Given the description of an element on the screen output the (x, y) to click on. 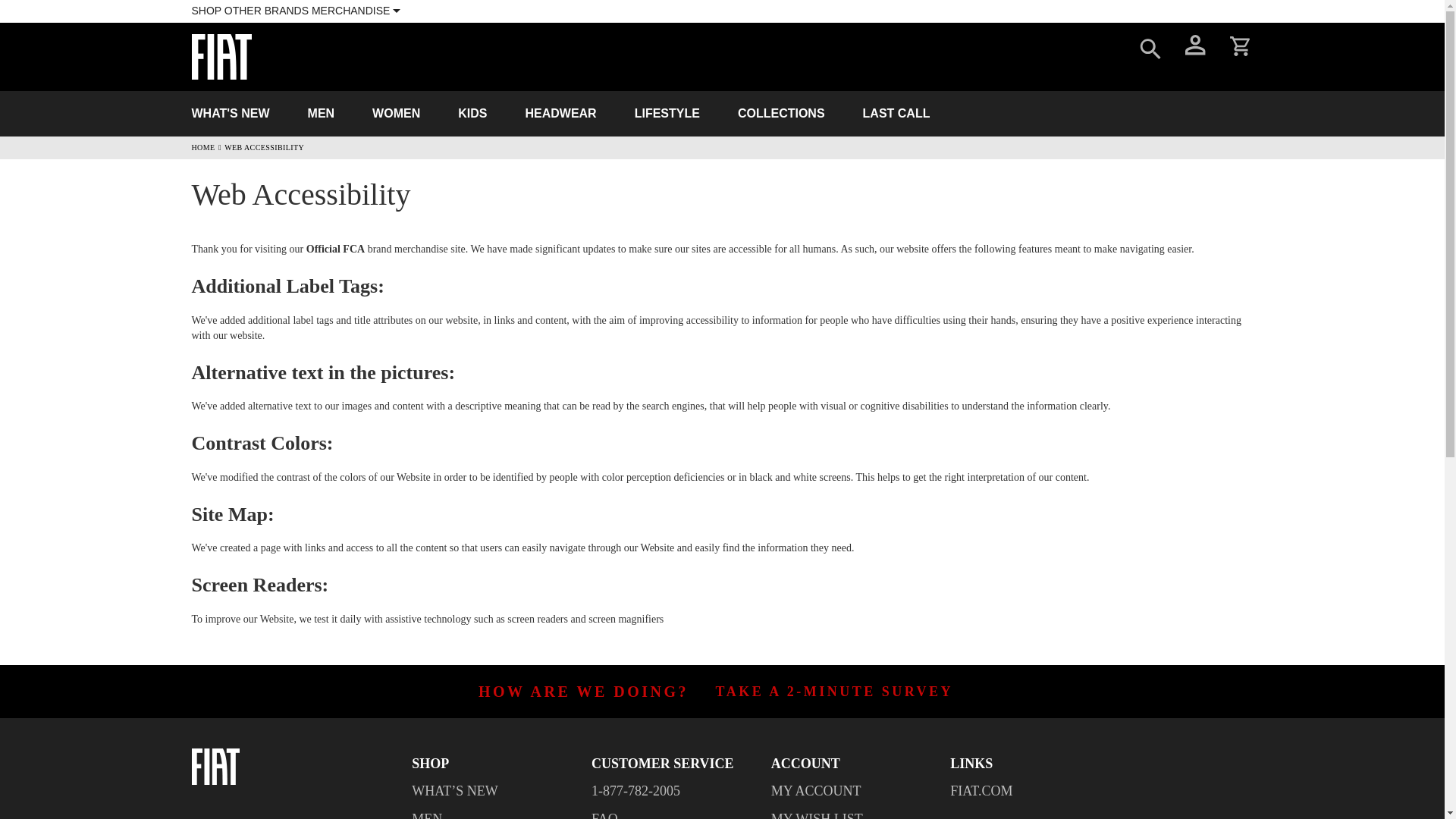
WOMEN (395, 113)
KIDS (472, 113)
Sign In (1194, 48)
Go to Home Page (202, 147)
COLLECTIONS (781, 113)
Fiat Home Page (293, 766)
WHAT'S NEW (229, 113)
MEN (321, 113)
LIFESTYLE (667, 113)
HEADWEAR (560, 113)
